Given the description of an element on the screen output the (x, y) to click on. 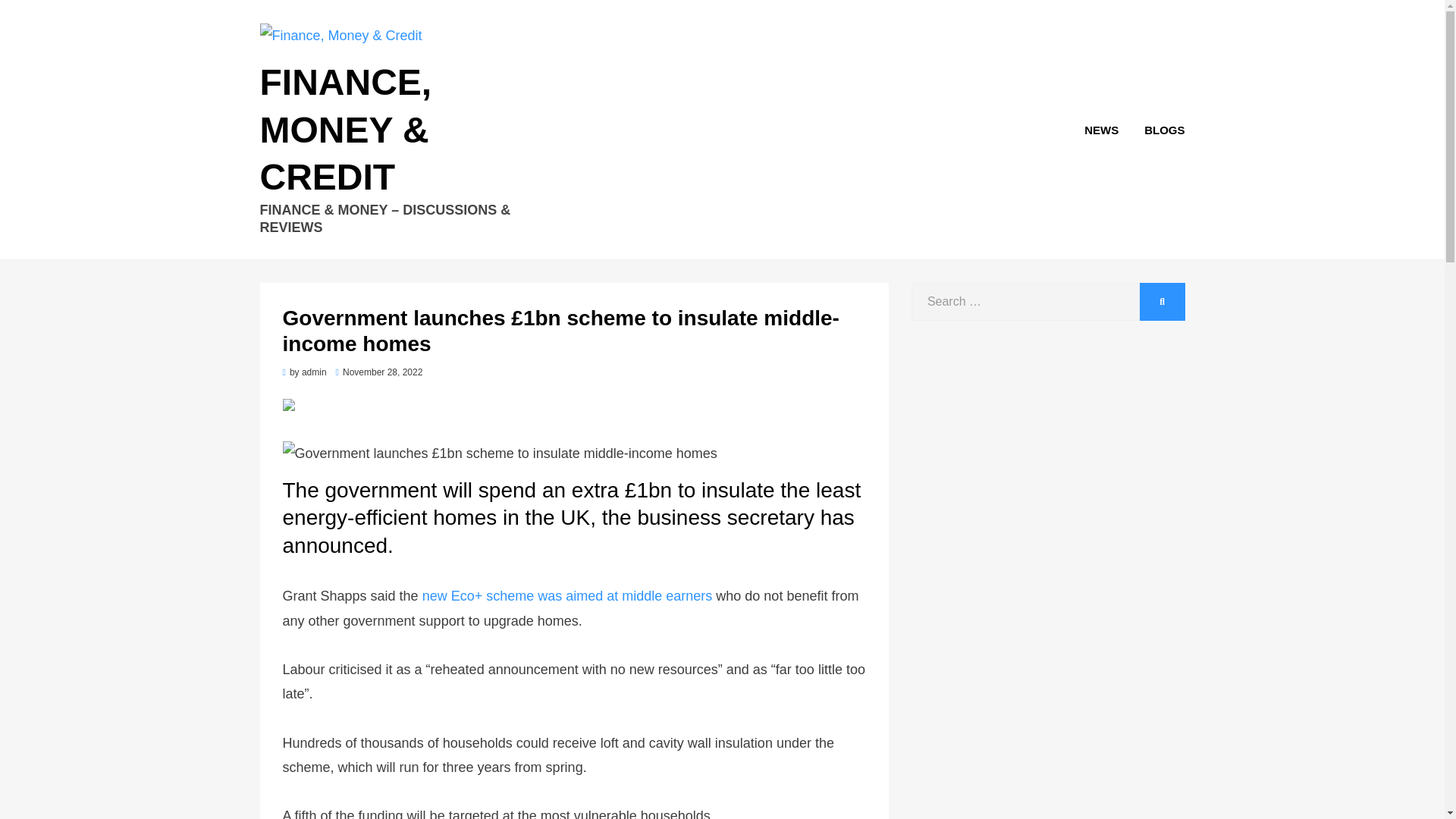
November 28, 2022 (379, 371)
NEWS (1101, 129)
Search for: (1025, 301)
admin (313, 371)
SEARCH (1161, 301)
BLOGS (1158, 129)
